Given the description of an element on the screen output the (x, y) to click on. 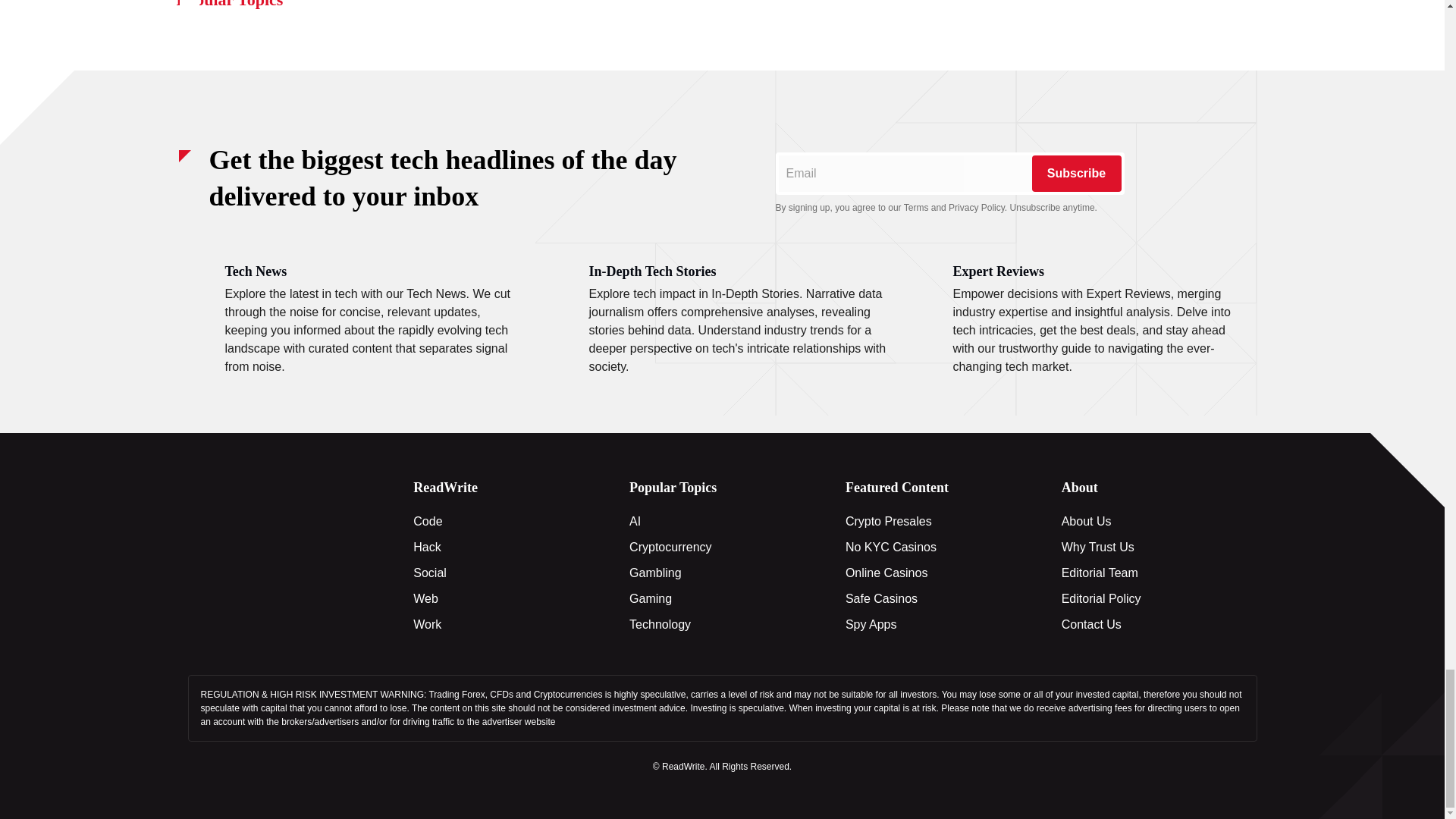
Subscribe (1075, 173)
